Given the description of an element on the screen output the (x, y) to click on. 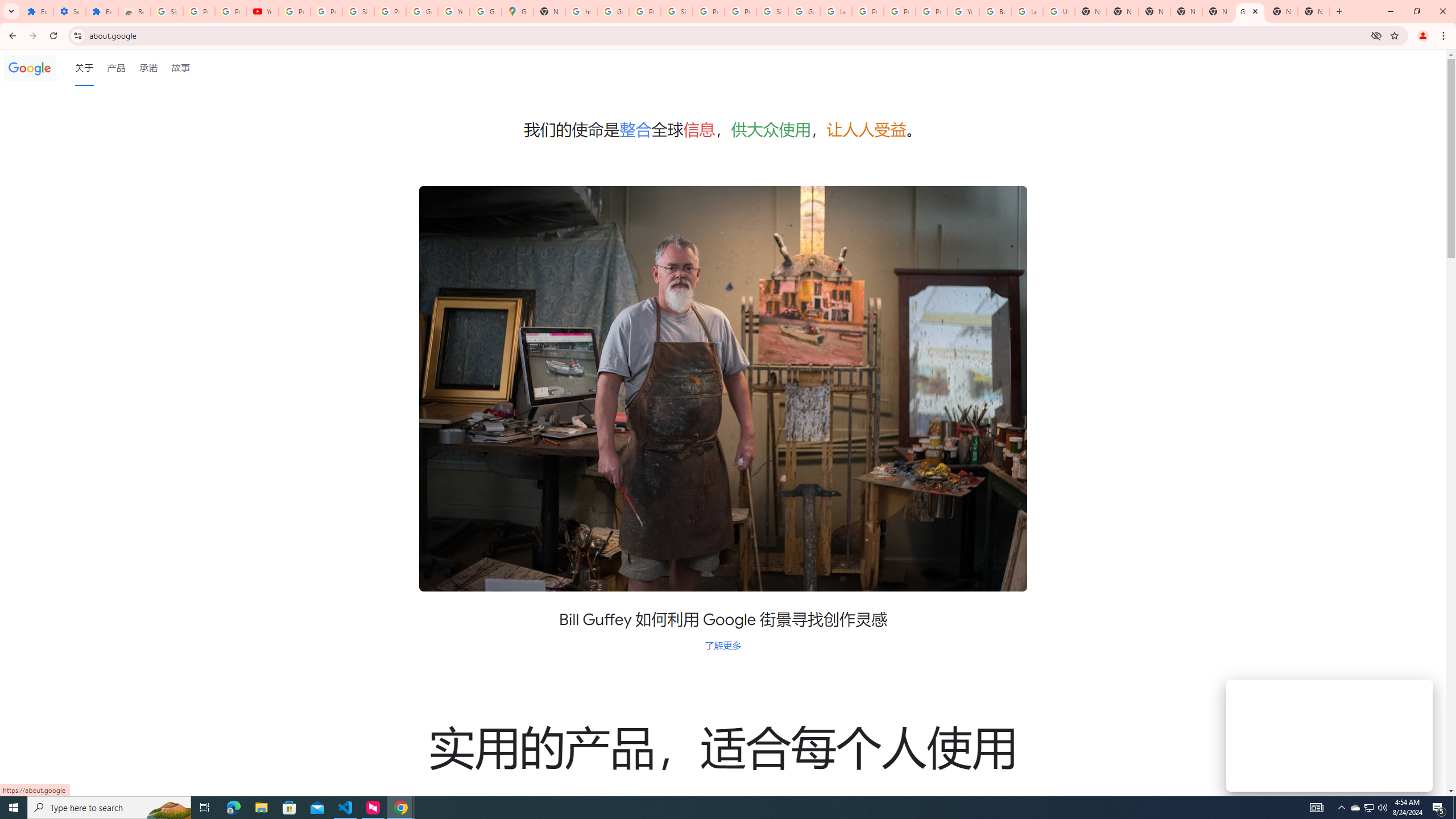
YouTube (963, 11)
Google Maps (517, 11)
New Tab (1154, 11)
Privacy Help Center - Policies Help (868, 11)
